Given the description of an element on the screen output the (x, y) to click on. 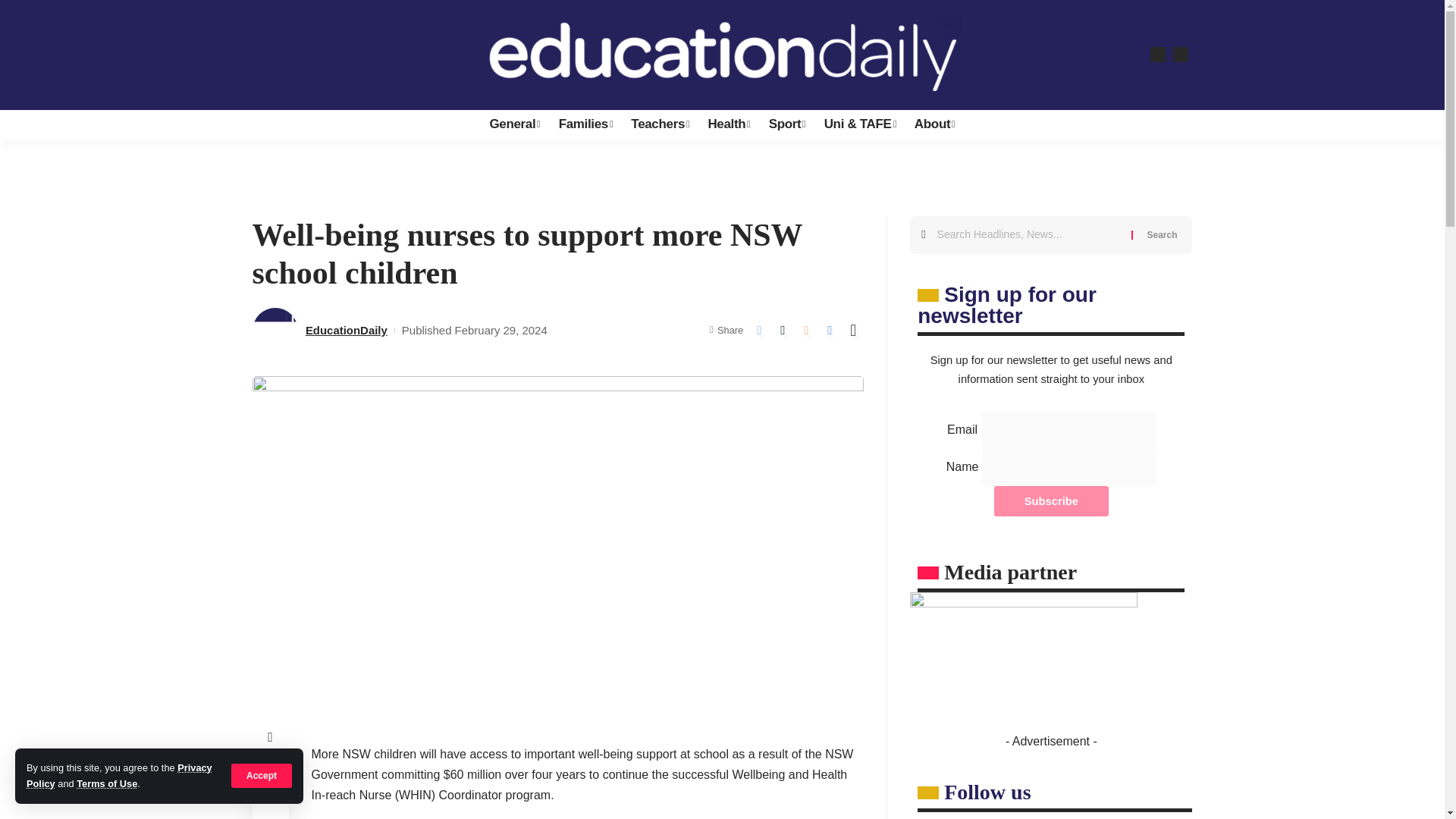
Search (1161, 234)
Families (586, 124)
EducationDaily (721, 54)
Subscribe (1051, 501)
Terms of Use (106, 783)
Teachers (659, 124)
General (514, 124)
Accept (261, 775)
Privacy Policy (119, 775)
